Given the description of an element on the screen output the (x, y) to click on. 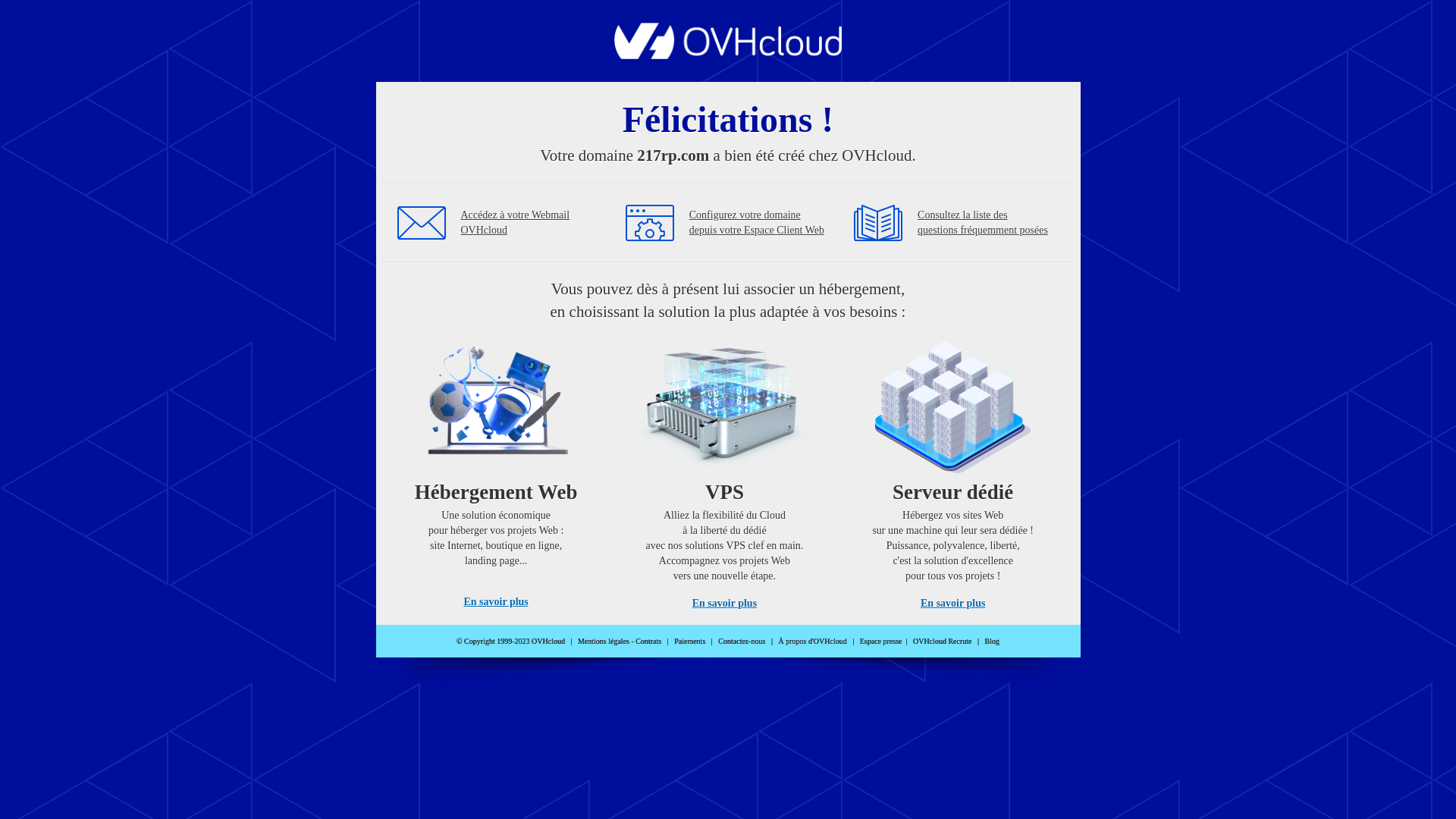
En savoir plus Element type: text (495, 601)
VPS Element type: hover (724, 469)
Espace presse Element type: text (880, 641)
Configurez votre domaine
depuis votre Espace Client Web Element type: text (756, 222)
Paiements Element type: text (689, 641)
En savoir plus Element type: text (952, 602)
En savoir plus Element type: text (724, 602)
Contactez-nous Element type: text (741, 641)
Blog Element type: text (992, 641)
OVHcloud Recrute Element type: text (942, 641)
OVHcloud Element type: hover (727, 54)
